Given the description of an element on the screen output the (x, y) to click on. 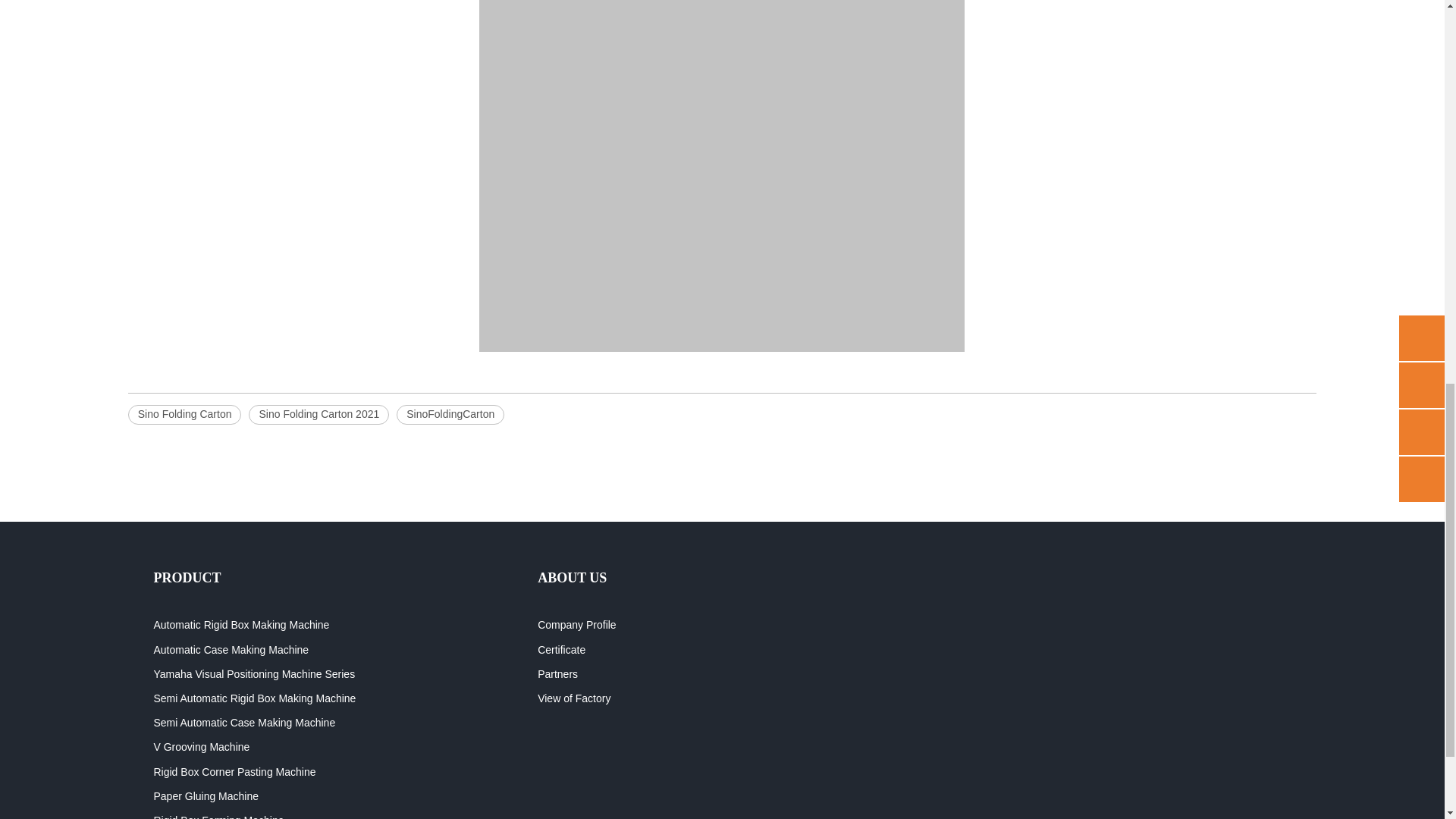
Automatic Case Making Machine  (230, 649)
Sino Folding Carton 2021 (318, 414)
SinoFoldingCarton (449, 414)
Automatic Rigid Box Making Machine (240, 624)
Sino Folding Carton (184, 414)
